Given the description of an element on the screen output the (x, y) to click on. 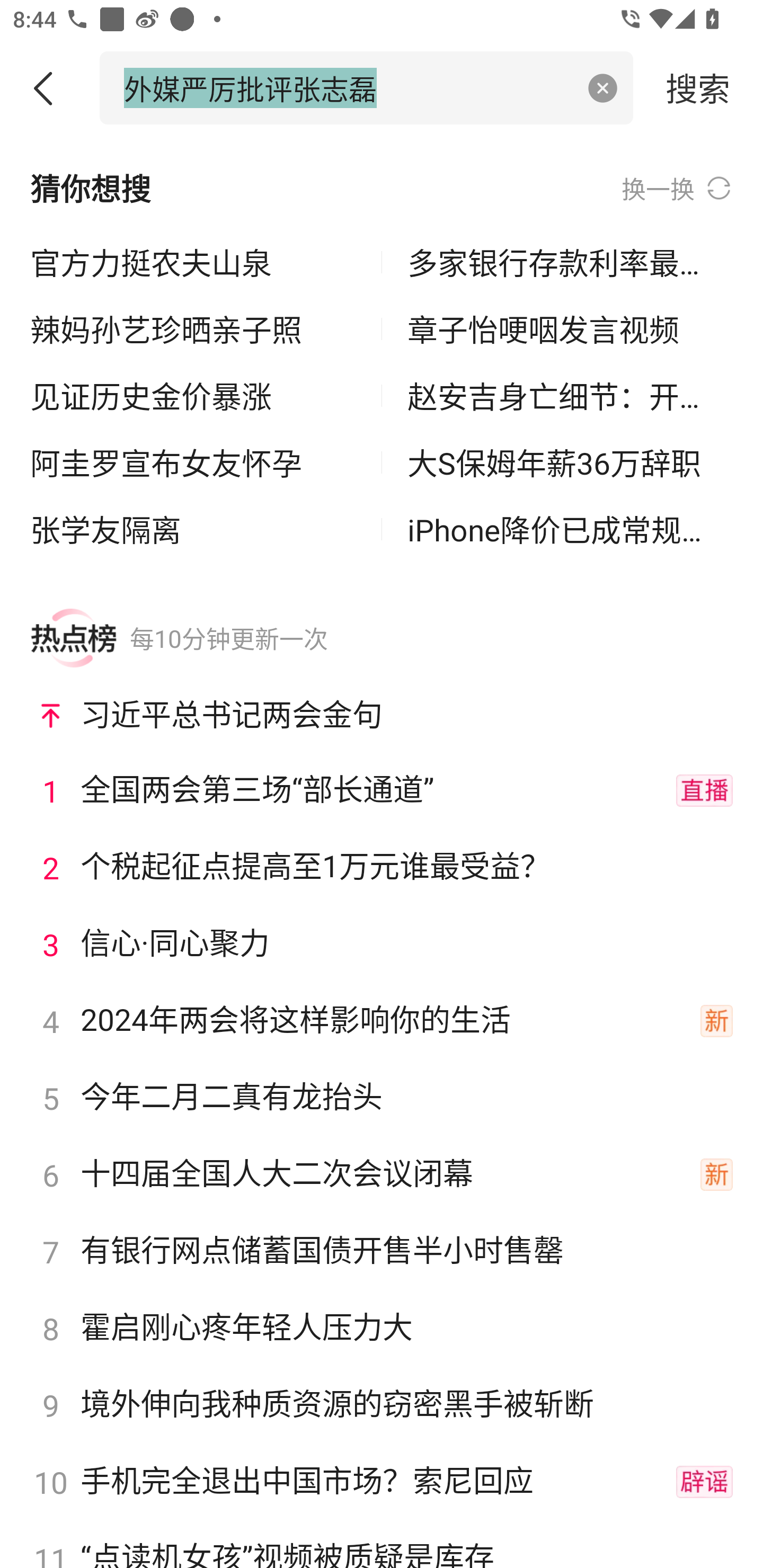
返回 (49, 87)
搜索 (698, 87)
外媒严厉批评张志磊 (347, 87)
清空 (602, 88)
换一换 (676, 187)
官方力挺农夫山泉 (193, 262)
多家银行存款利率最高达10% (569, 262)
辣妈孙艺珍晒亲子照 (193, 329)
章子怡哽咽发言视频 (569, 329)
见证历史金价暴涨 (193, 395)
赵安吉身亡细节：开特斯拉操作失误 (569, 395)
阿圭罗宣布女友怀孕 (193, 462)
大S保姆年薪36万辞职 (569, 462)
张学友隔离 (193, 528)
iPhone降价已成常规促销手段 (569, 528)
